Given the description of an element on the screen output the (x, y) to click on. 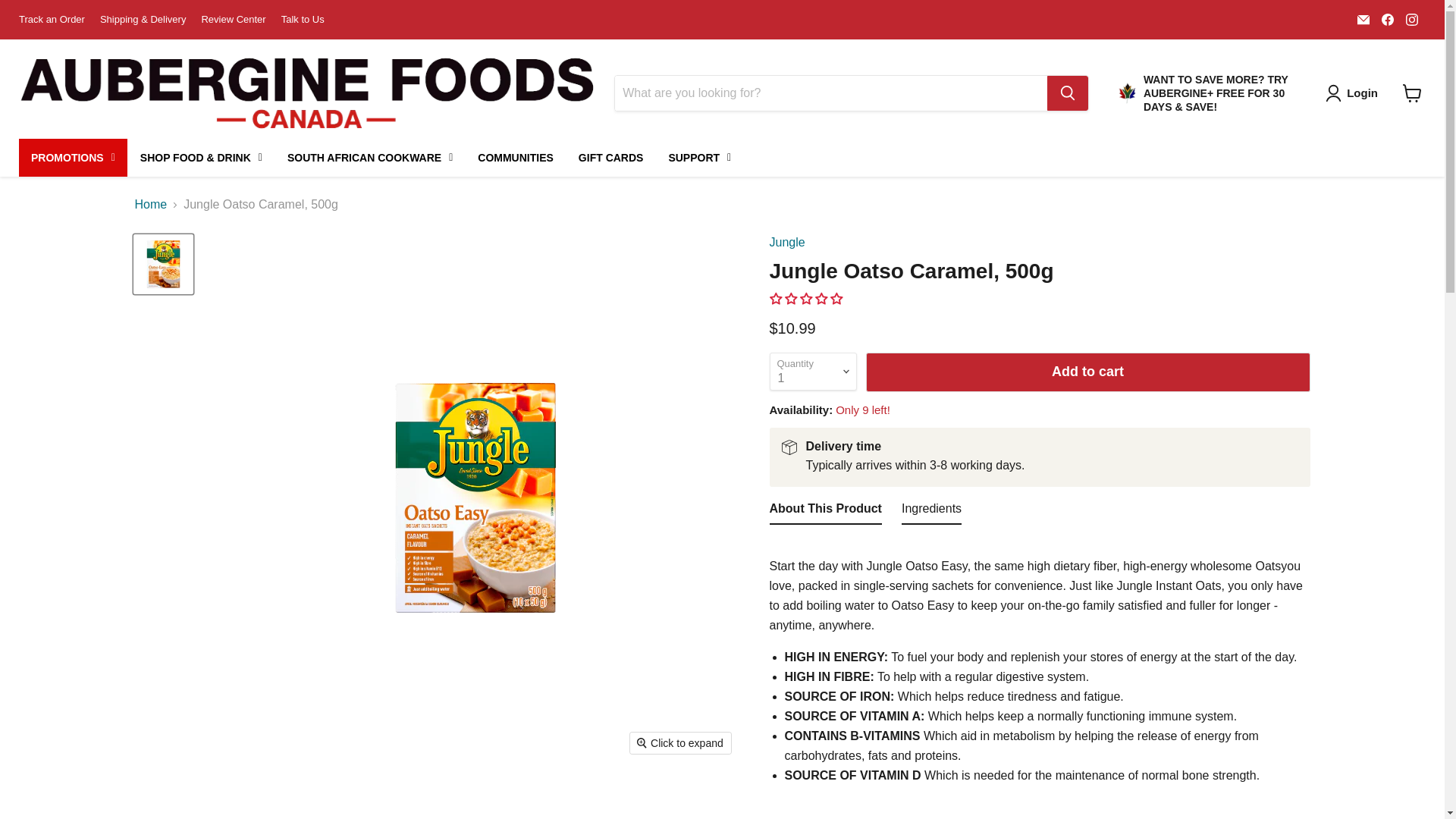
Email AubergineFoods CA (1363, 19)
View cart (1411, 92)
Find us on Instagram (1411, 19)
Facebook (1387, 19)
Find us on Facebook (1387, 19)
Track an Order (51, 19)
PROMOTIONS (73, 157)
Login (1354, 93)
Instagram (1411, 19)
Review Center (232, 19)
Talk to Us (302, 19)
Email (1363, 19)
PROMOTIONS (73, 157)
